Given the description of an element on the screen output the (x, y) to click on. 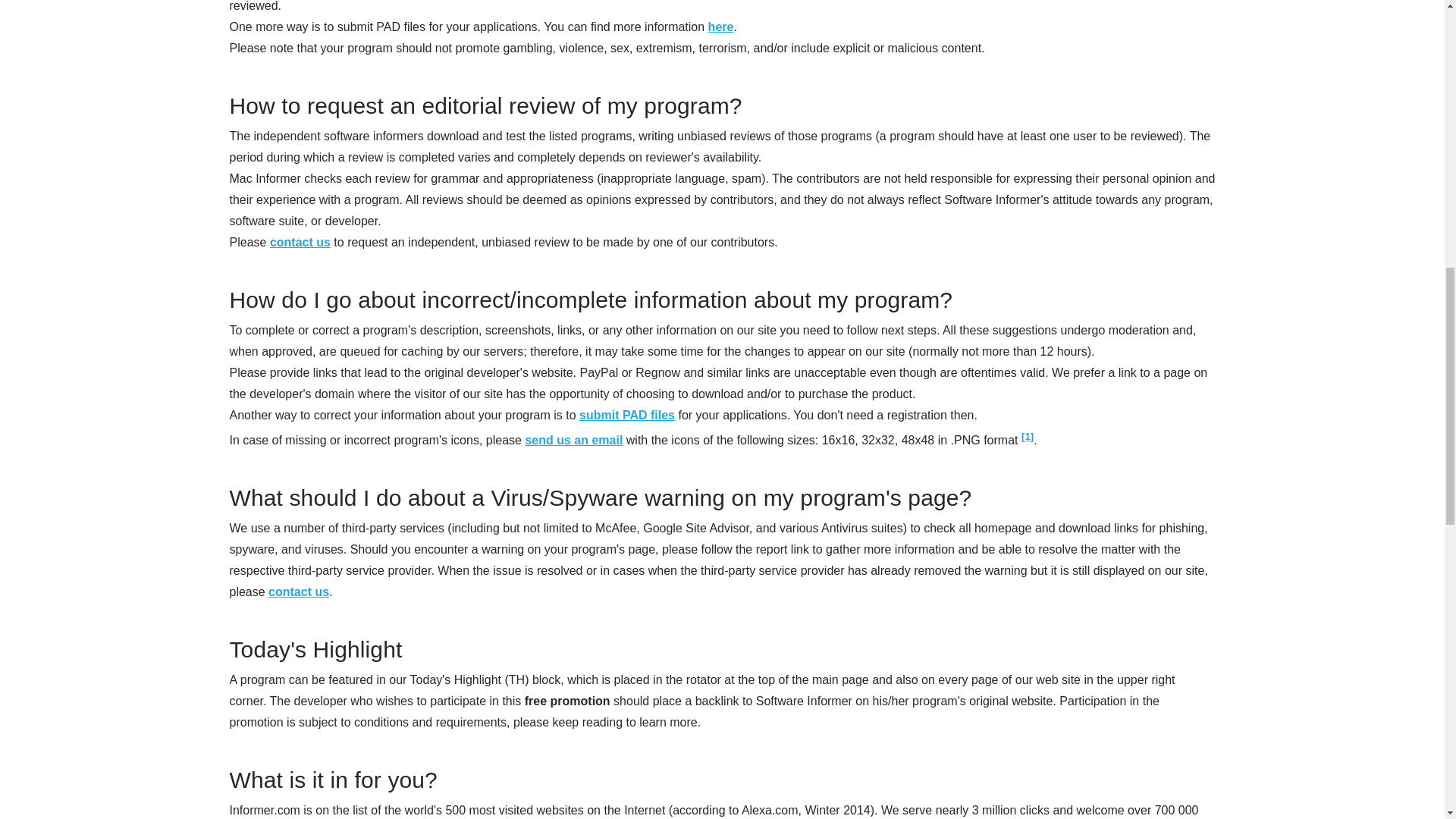
contact us (298, 591)
submit PAD files (627, 414)
contact us (299, 241)
send us an email (573, 440)
here (720, 26)
